Given the description of an element on the screen output the (x, y) to click on. 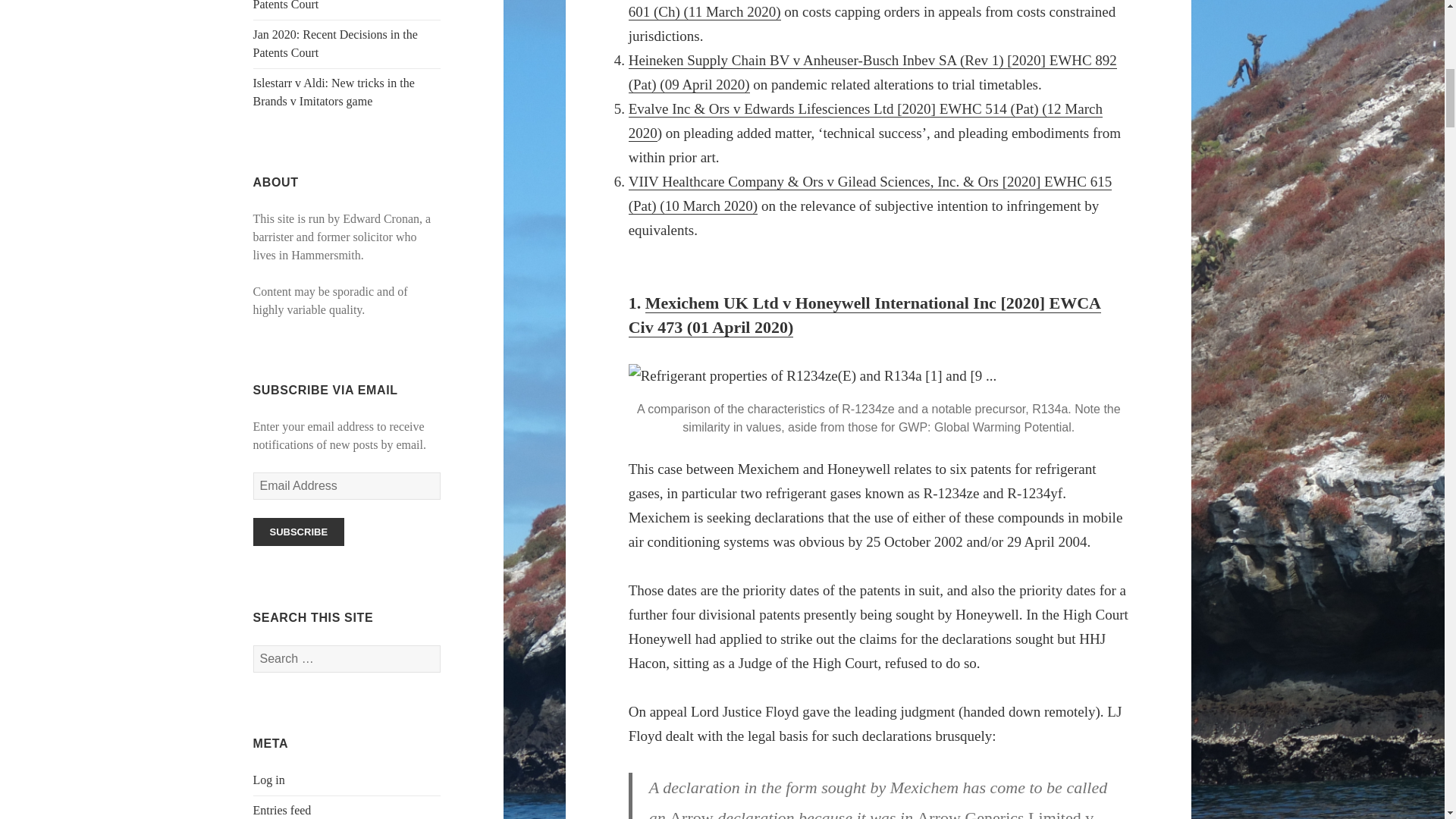
Log in (269, 779)
March 2020: Recent Decisions in the Patents Court (343, 5)
SUBSCRIBE (299, 531)
Entries feed (282, 809)
Jan 2020: Recent Decisions in the Patents Court (335, 42)
Islestarr v Aldi: New tricks in the Brands v Imitators game (333, 91)
